Given the description of an element on the screen output the (x, y) to click on. 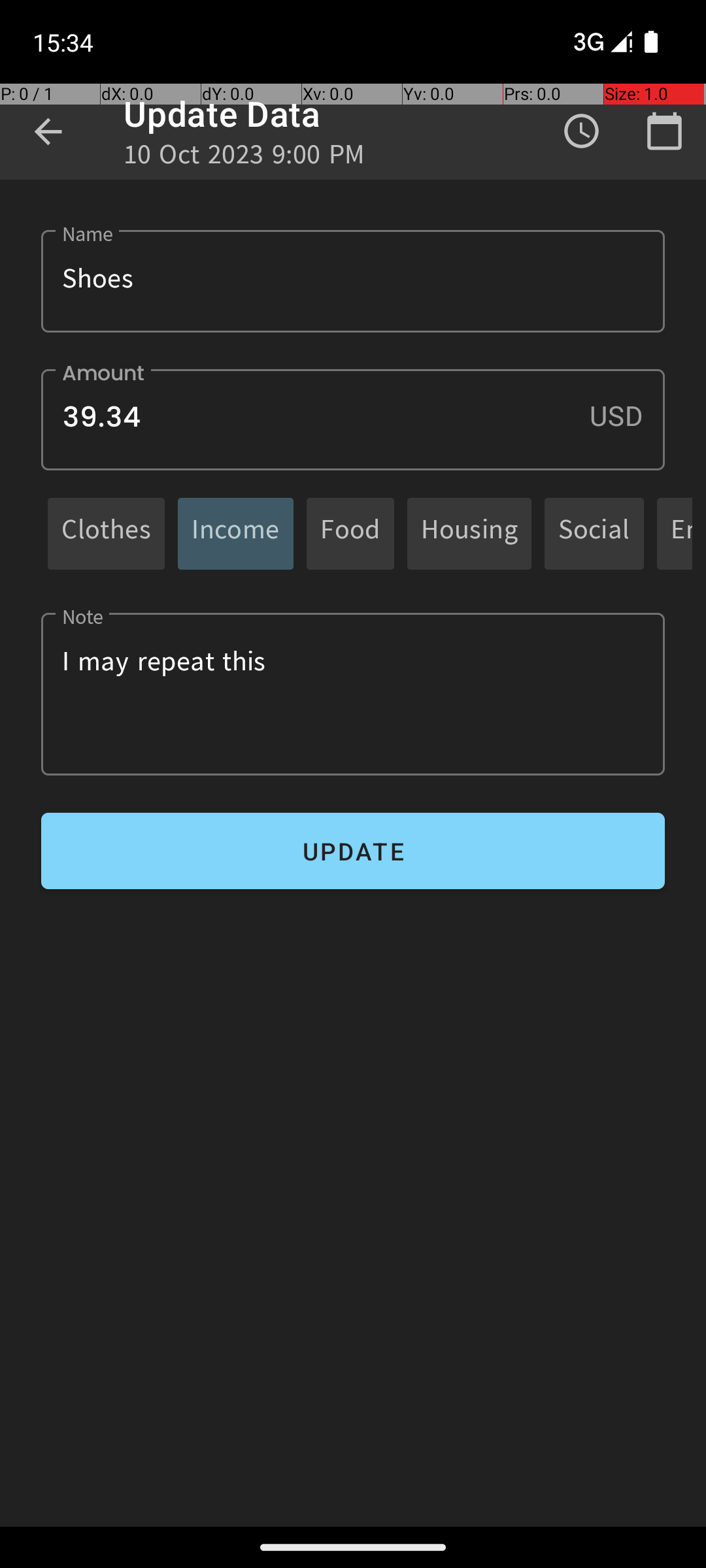
10 Oct 2023 9:00 PM Element type: android.widget.TextView (244, 157)
Shoes Element type: android.widget.EditText (352, 280)
39.34 Element type: android.widget.EditText (352, 419)
Clothes Element type: android.widget.TextView (106, 533)
